Given the description of an element on the screen output the (x, y) to click on. 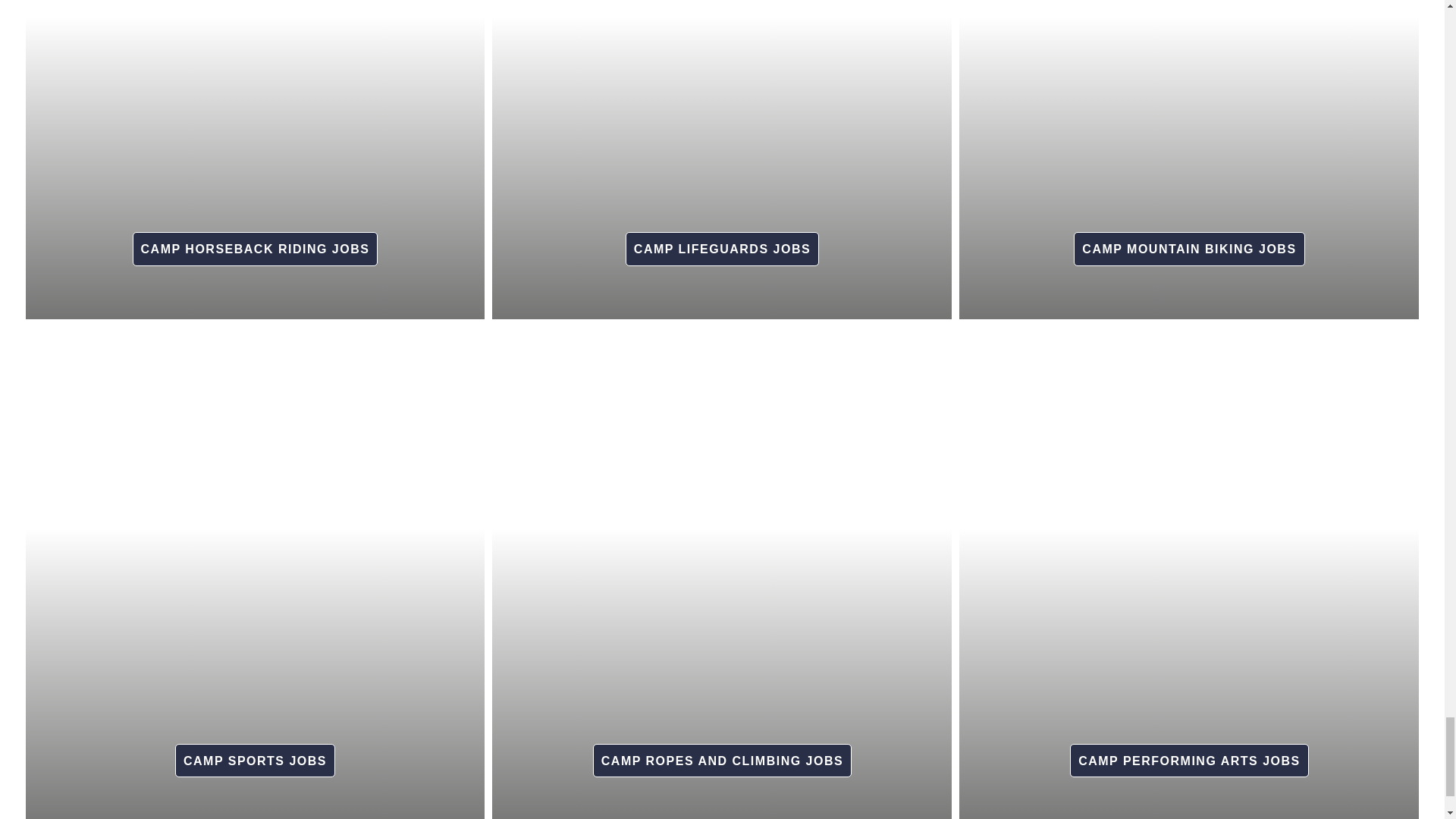
CAMP PERFORMING ARTS JOBS (1188, 755)
CAMP ROPES AND CLIMBING JOBS (721, 755)
CAMP LIFEGUARDS JOBS (721, 243)
CAMP HORSEBACK RIDING JOBS (255, 243)
CAMP MOUNTAIN BIKING JOBS (1188, 243)
CAMP SPORTS JOBS (255, 755)
